Given the description of an element on the screen output the (x, y) to click on. 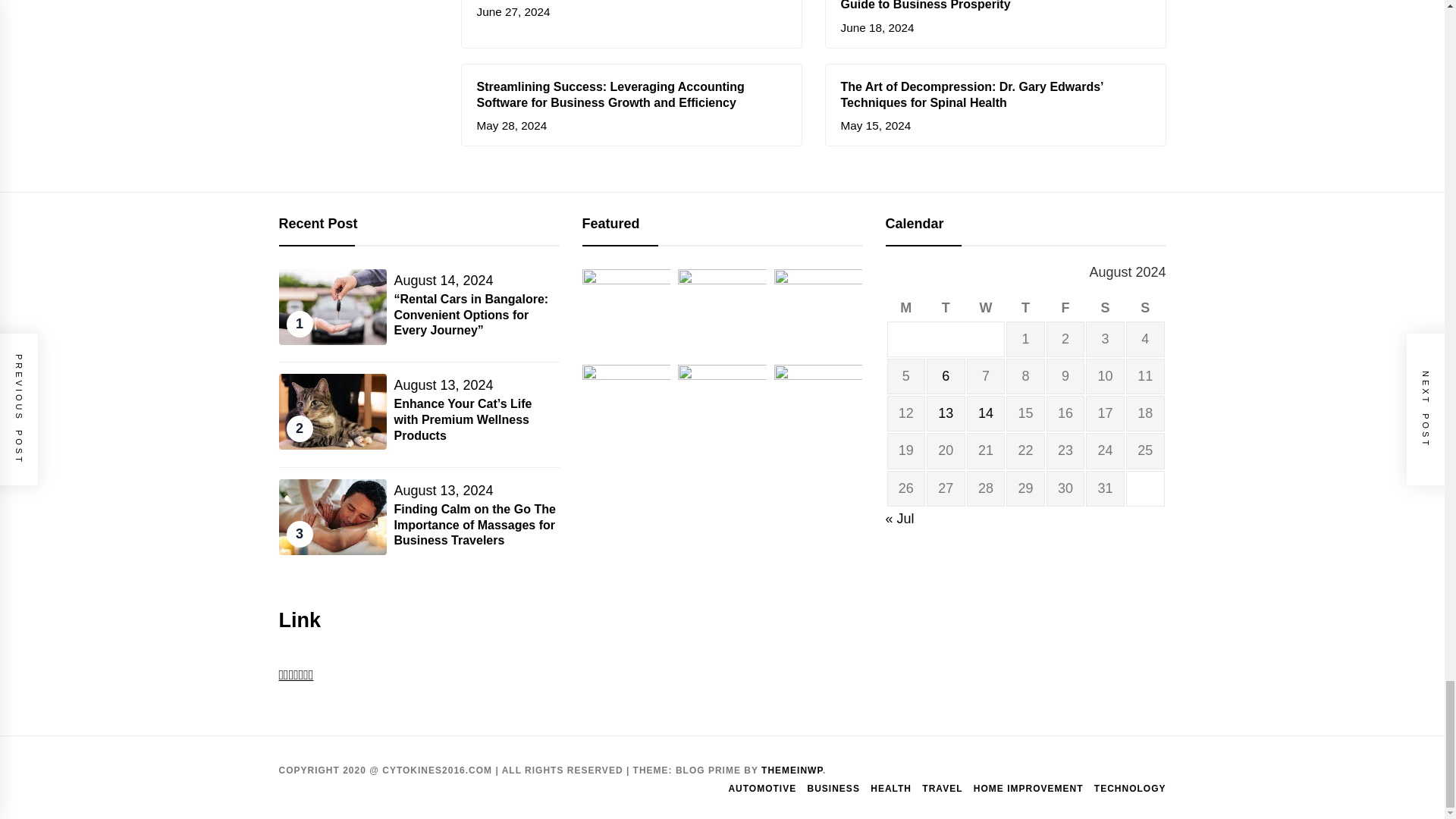
Monday (906, 308)
Friday (1065, 308)
Saturday (1105, 308)
Wednesday (986, 308)
Tuesday (945, 308)
Thursday (1025, 308)
Sunday (1144, 308)
